Given the description of an element on the screen output the (x, y) to click on. 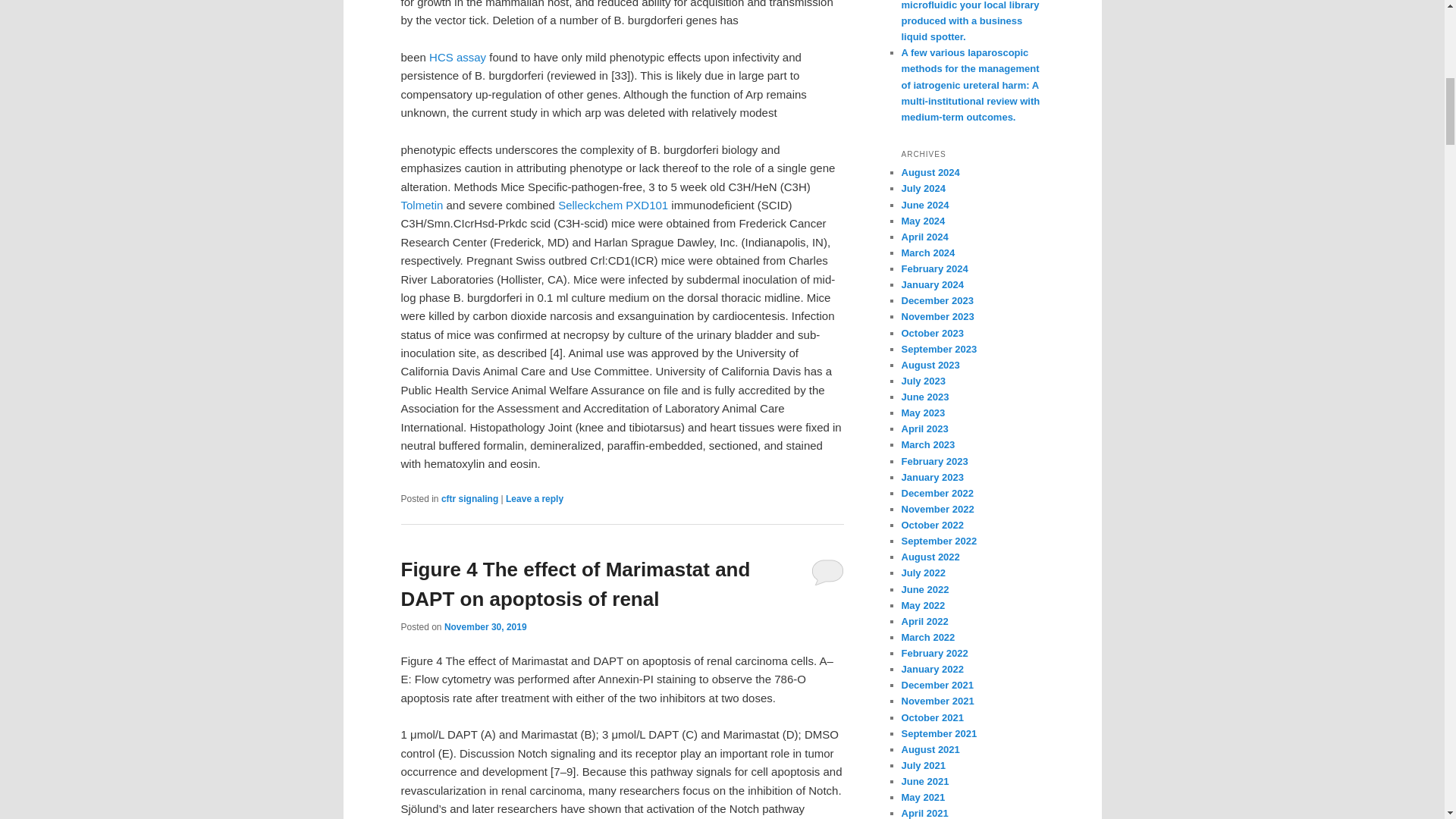
cftr signaling (469, 498)
Selleckchem PXD101 (612, 205)
HCS assay (457, 56)
November 30, 2019 (485, 626)
View all posts in cftr signaling (469, 498)
7:06 am (485, 626)
Tolmetin (421, 205)
Leave a reply (534, 498)
